Given the description of an element on the screen output the (x, y) to click on. 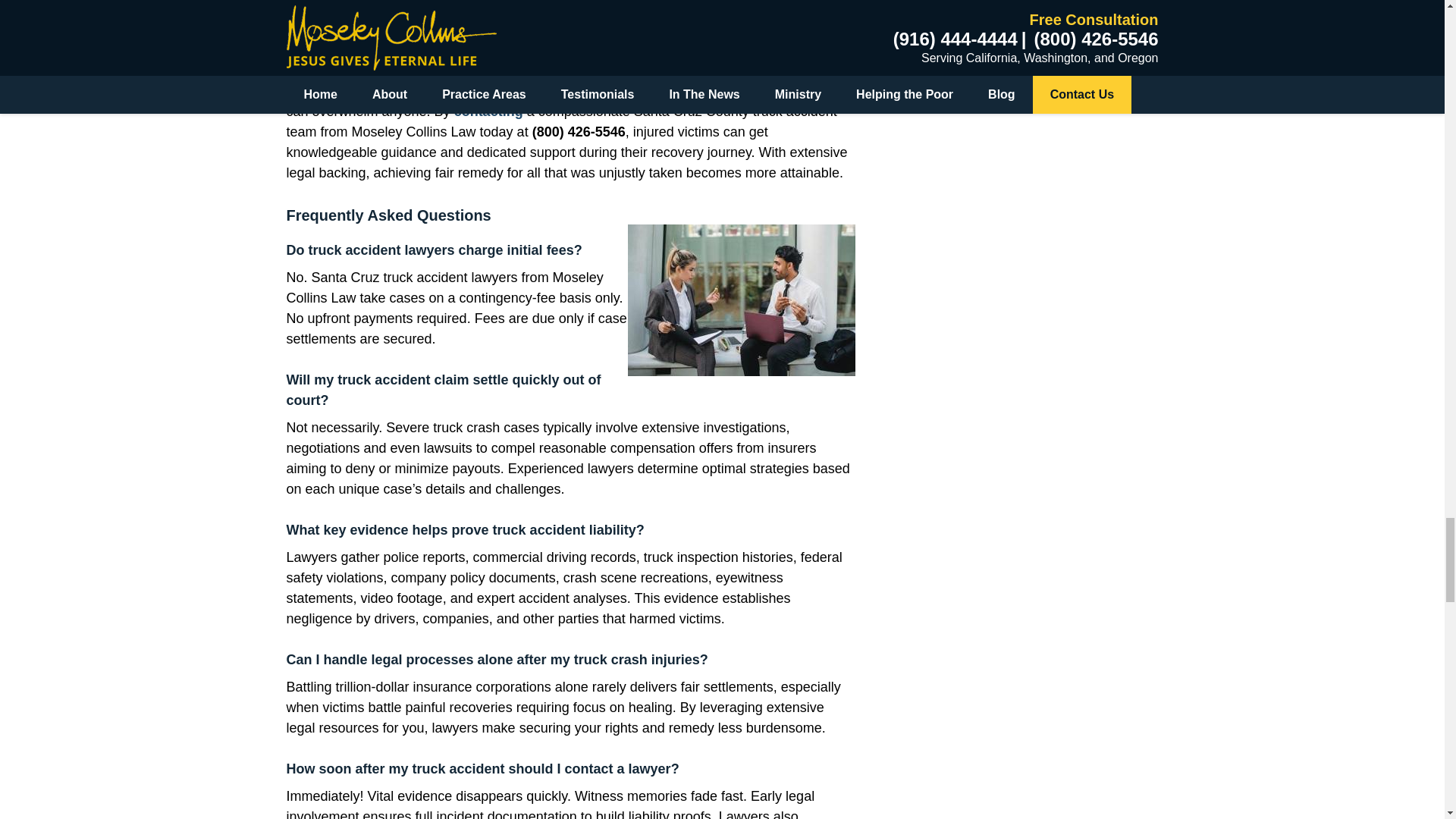
contacting (488, 111)
